Given the description of an element on the screen output the (x, y) to click on. 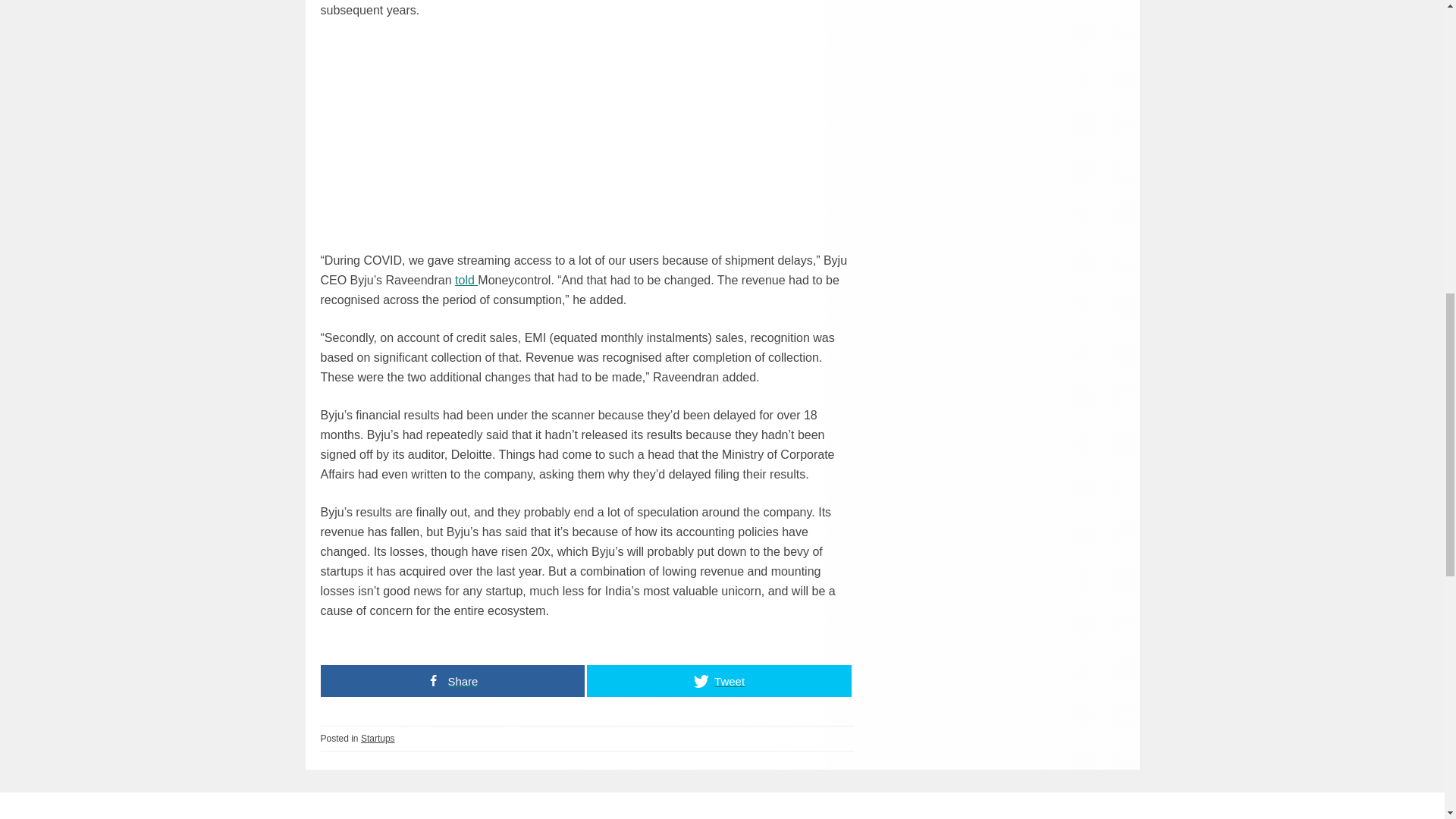
Share (452, 680)
Startups (377, 738)
Tweet (718, 680)
Advertisement (586, 144)
told (465, 279)
